Given the description of an element on the screen output the (x, y) to click on. 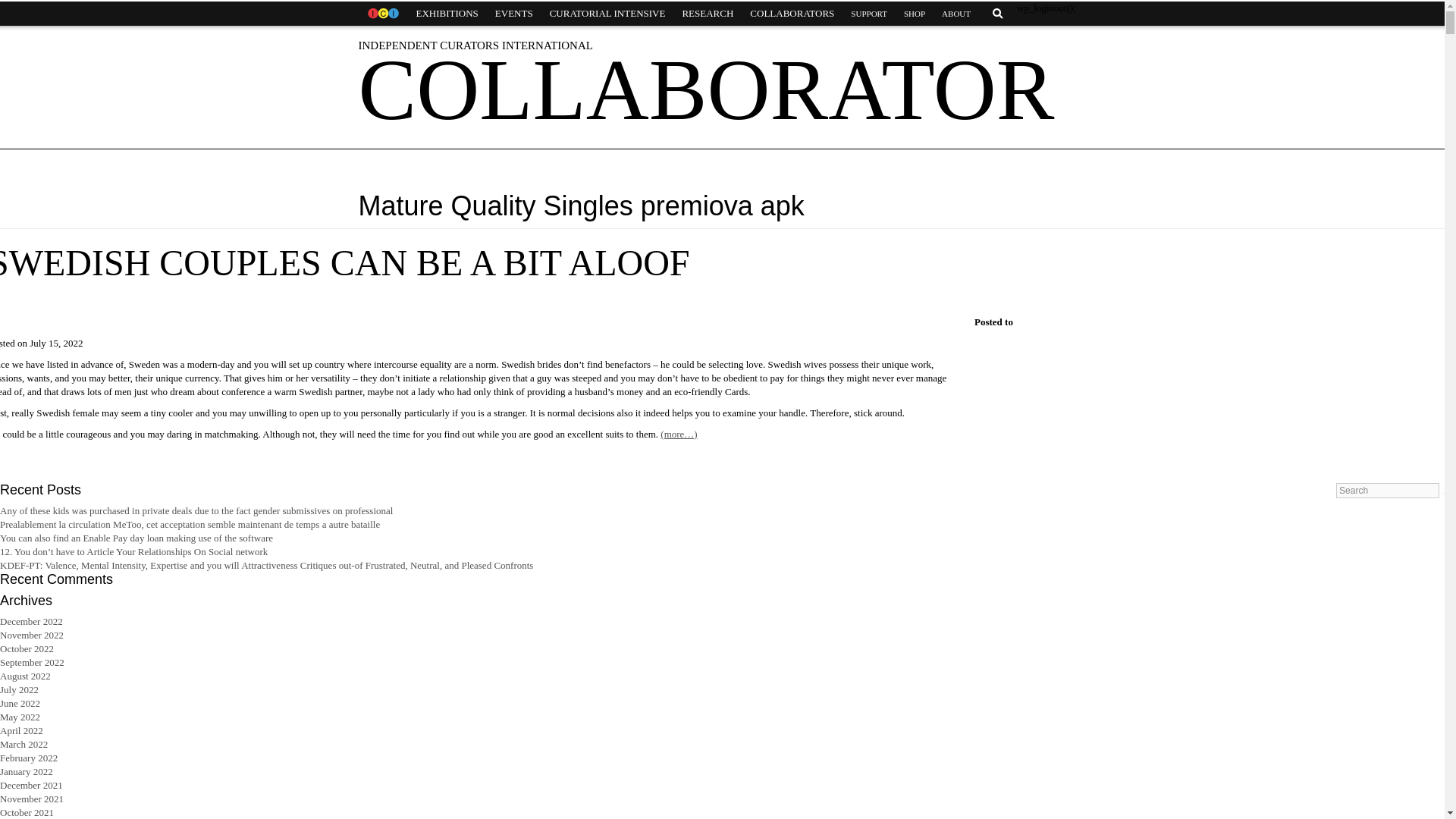
RESEARCH (706, 13)
EVENTS (513, 13)
EXHIBITIONS (446, 13)
COLLABORATORS (792, 13)
CURATORIAL INTENSIVE (607, 13)
HOME (382, 13)
